Given the description of an element on the screen output the (x, y) to click on. 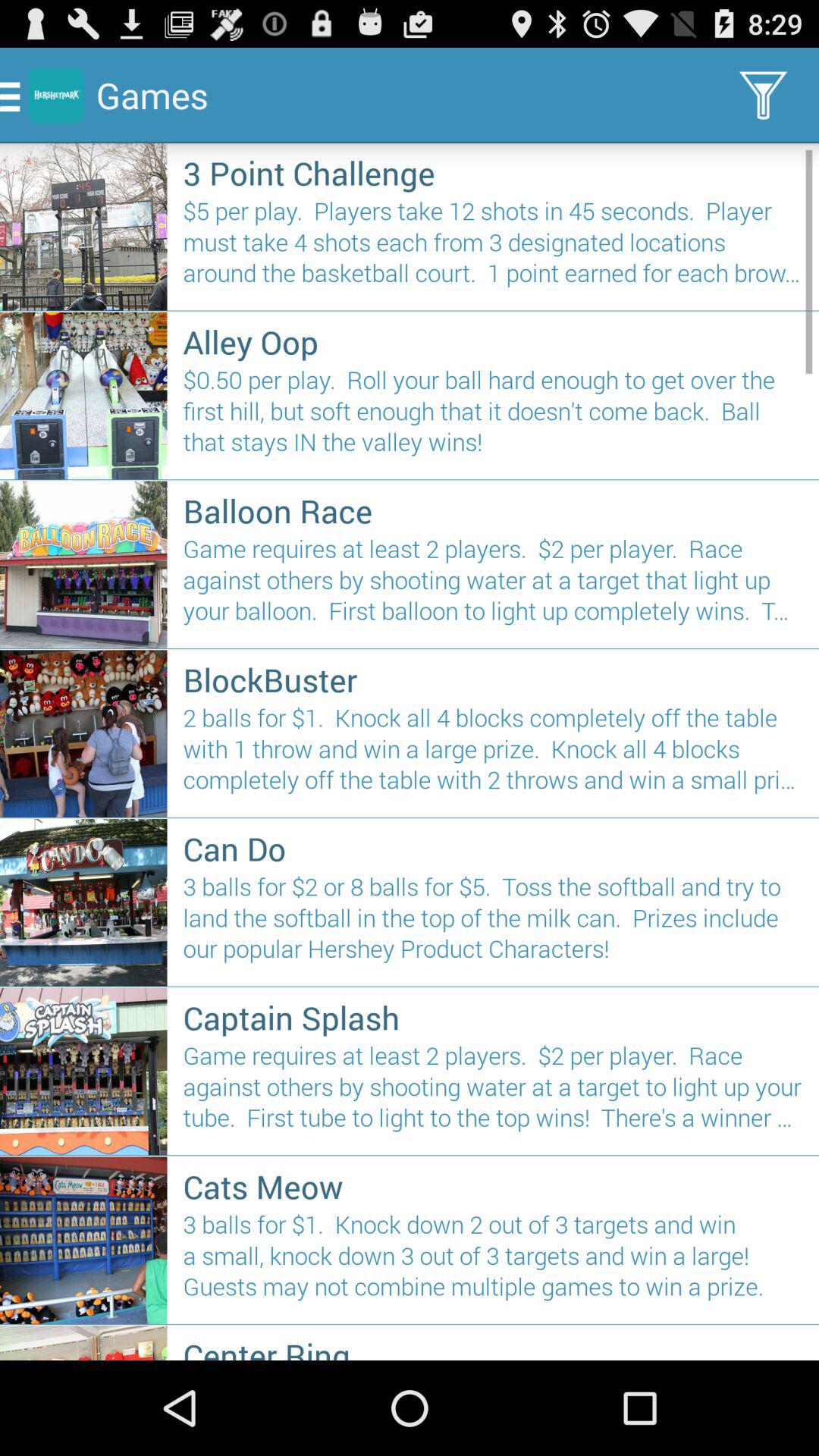
flip to the alley oop item (493, 341)
